Given the description of an element on the screen output the (x, y) to click on. 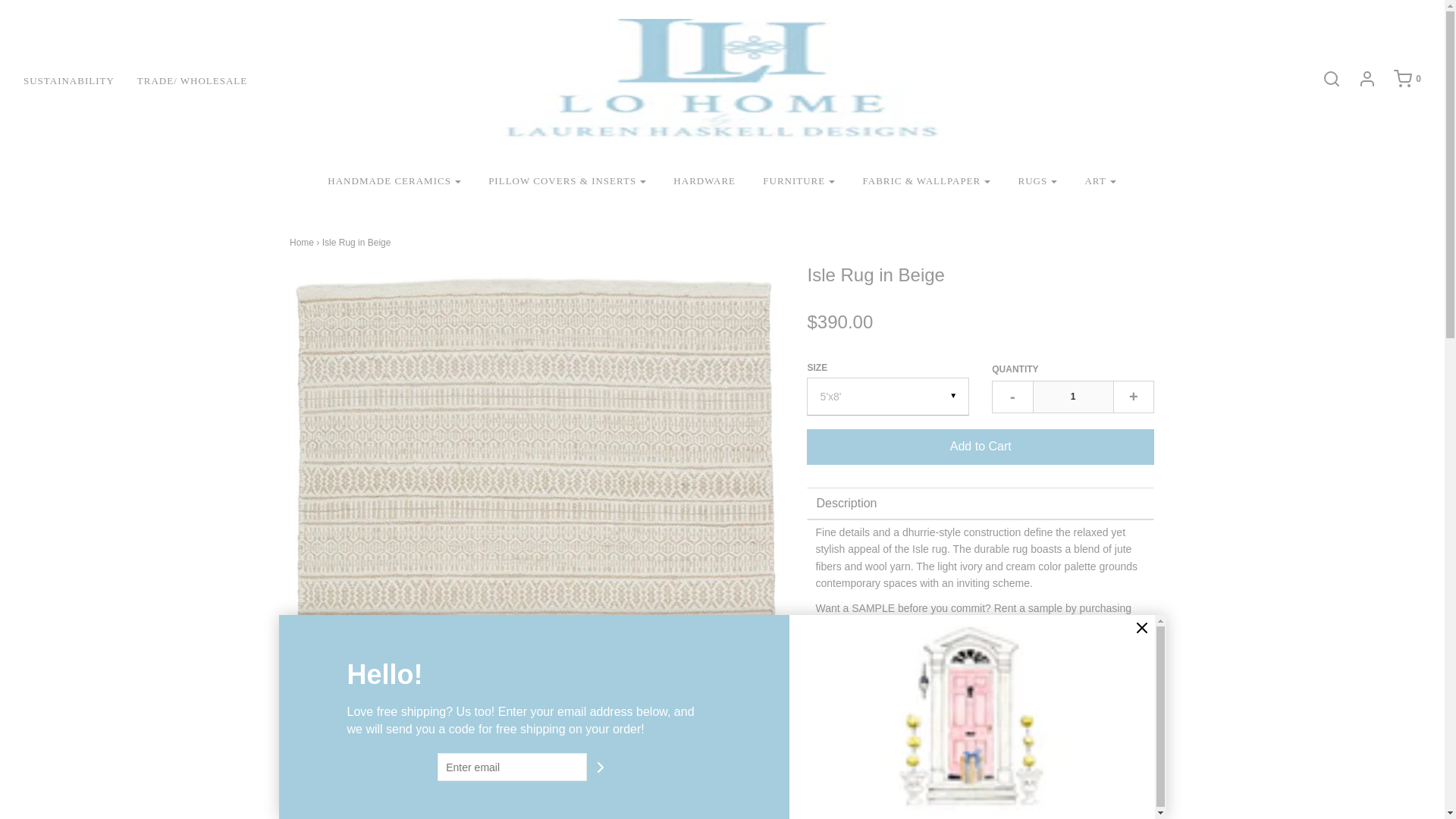
Search (1323, 78)
0 (1399, 78)
Back home (301, 242)
1 (1072, 396)
SUSTAINABILITY (79, 80)
Log in (1358, 78)
5'x8' (887, 396)
HANDMADE CERAMICS (393, 181)
Cart (1399, 78)
